Given the description of an element on the screen output the (x, y) to click on. 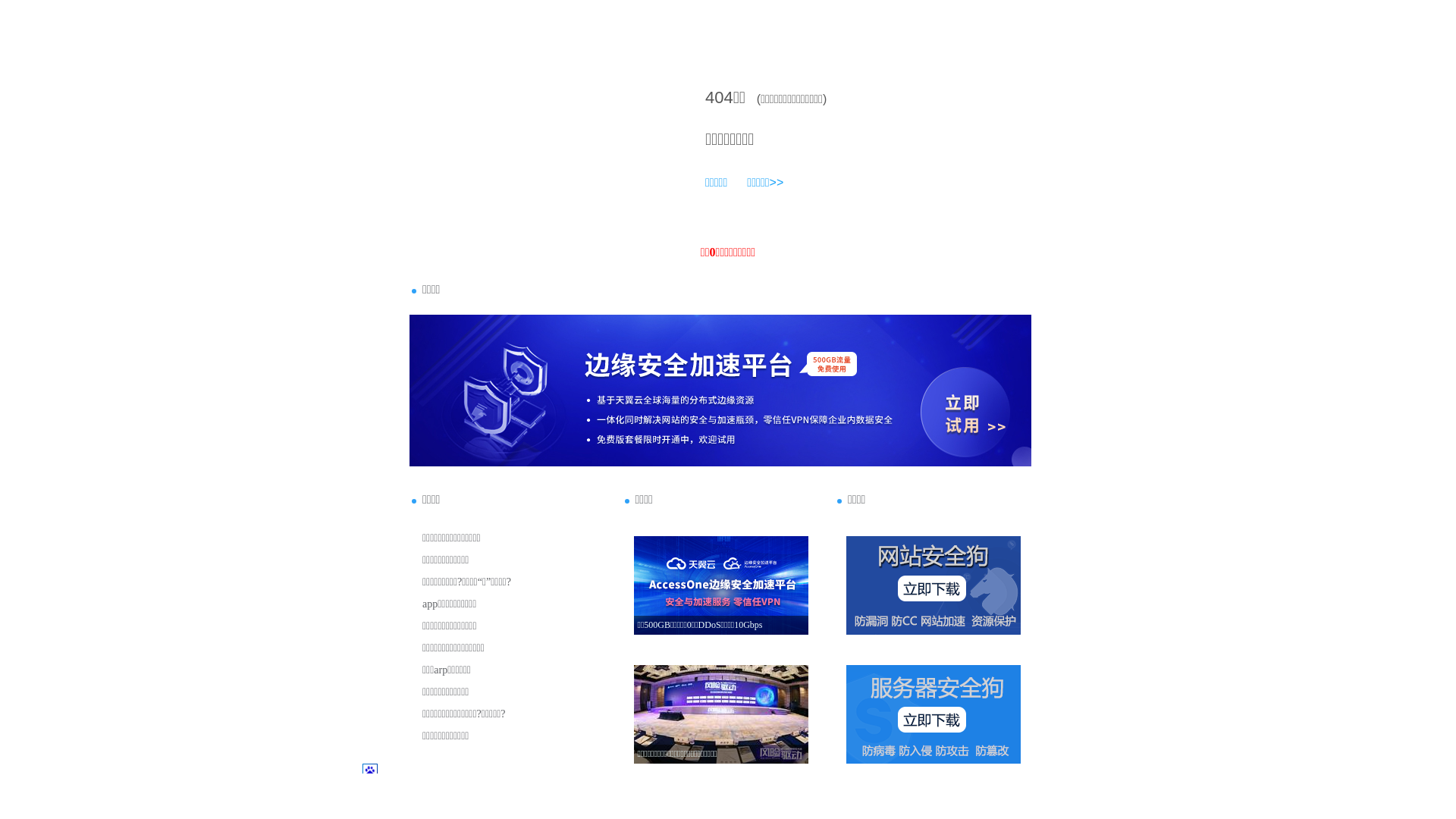
404 Element type: text (719, 96)
